Given the description of an element on the screen output the (x, y) to click on. 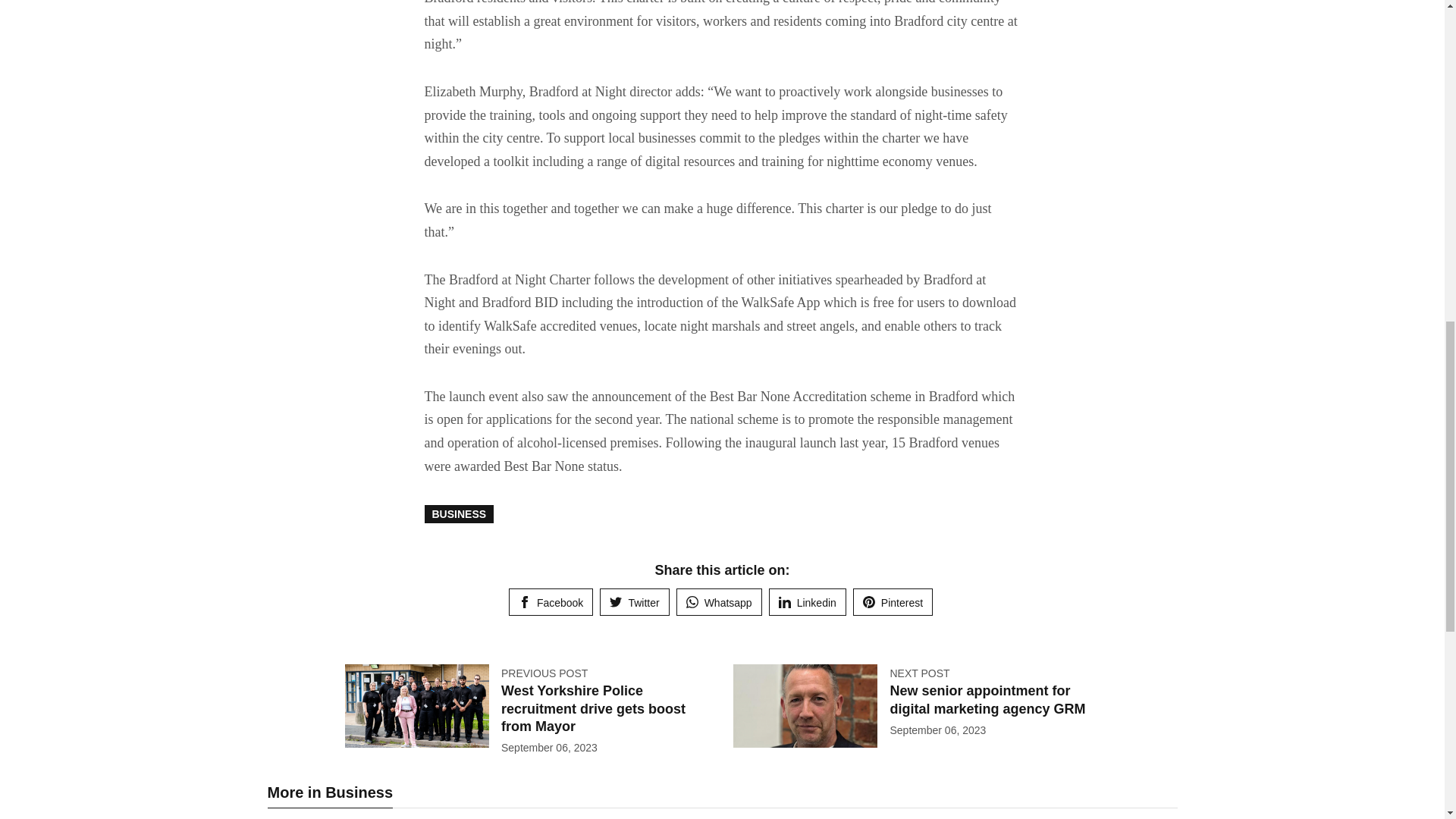
Pinterest (893, 601)
06 September, 2023 (548, 747)
PREVIOUS POST (544, 673)
Share on Linkedin (806, 601)
New senior appointment for digital marketing agency GRM (986, 699)
Twitter (633, 601)
Share on Pinterest (893, 601)
NEXT POST (919, 673)
06 September, 2023 (937, 729)
Whatsapp (719, 601)
Facebook (550, 601)
BUSINESS (460, 514)
Share on Whatsapp (719, 601)
Share on Facebook (550, 601)
